Given the description of an element on the screen output the (x, y) to click on. 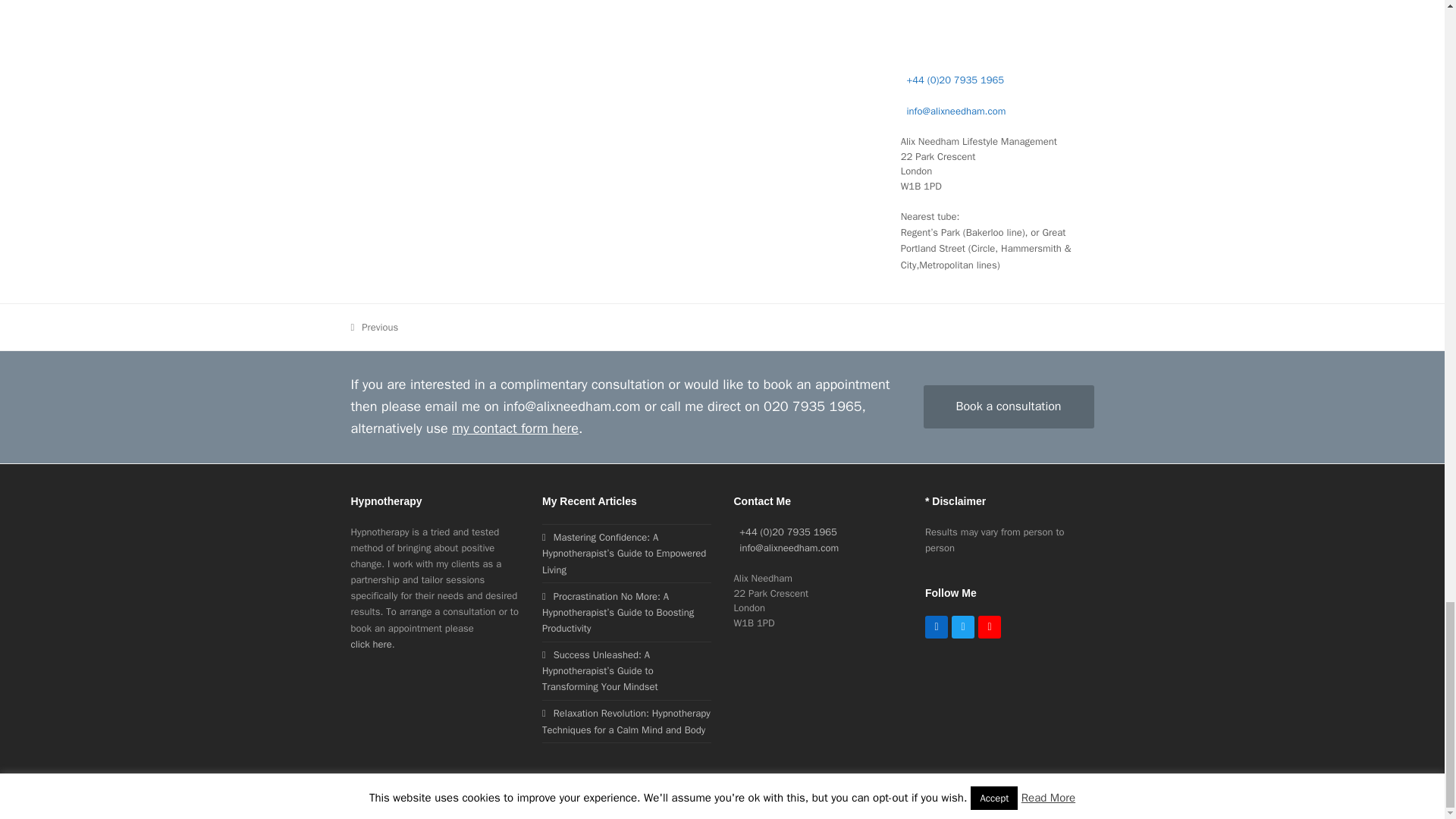
Twitter (963, 626)
YouTube (989, 626)
LinkedIn (935, 626)
Google Map (997, 24)
